Given the description of an element on the screen output the (x, y) to click on. 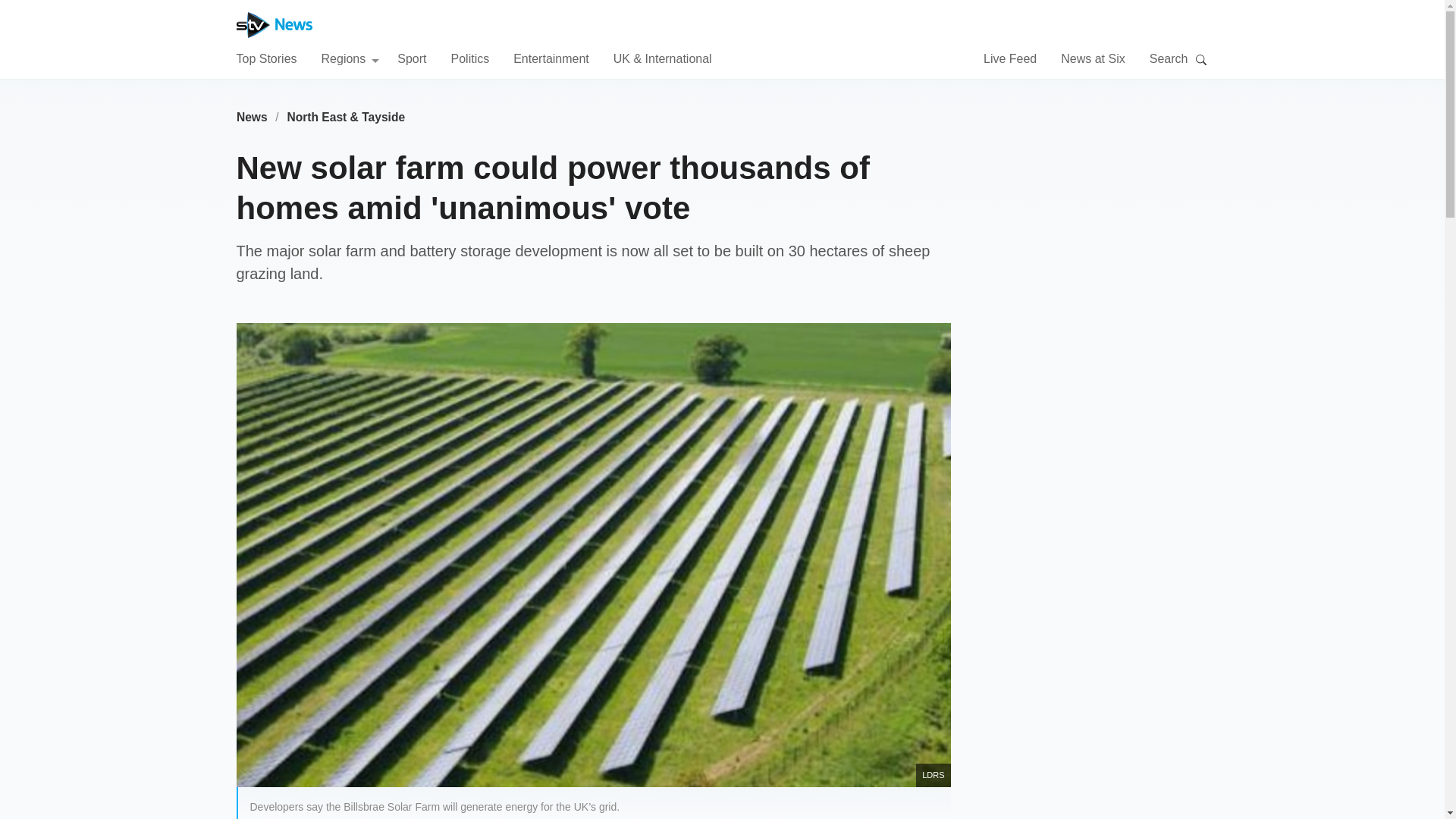
Politics (469, 57)
News (252, 116)
Regions (350, 57)
Top Stories (266, 57)
Search (1201, 59)
News at Six (1092, 57)
Entertainment (551, 57)
Live Feed (1010, 57)
